Given the description of an element on the screen output the (x, y) to click on. 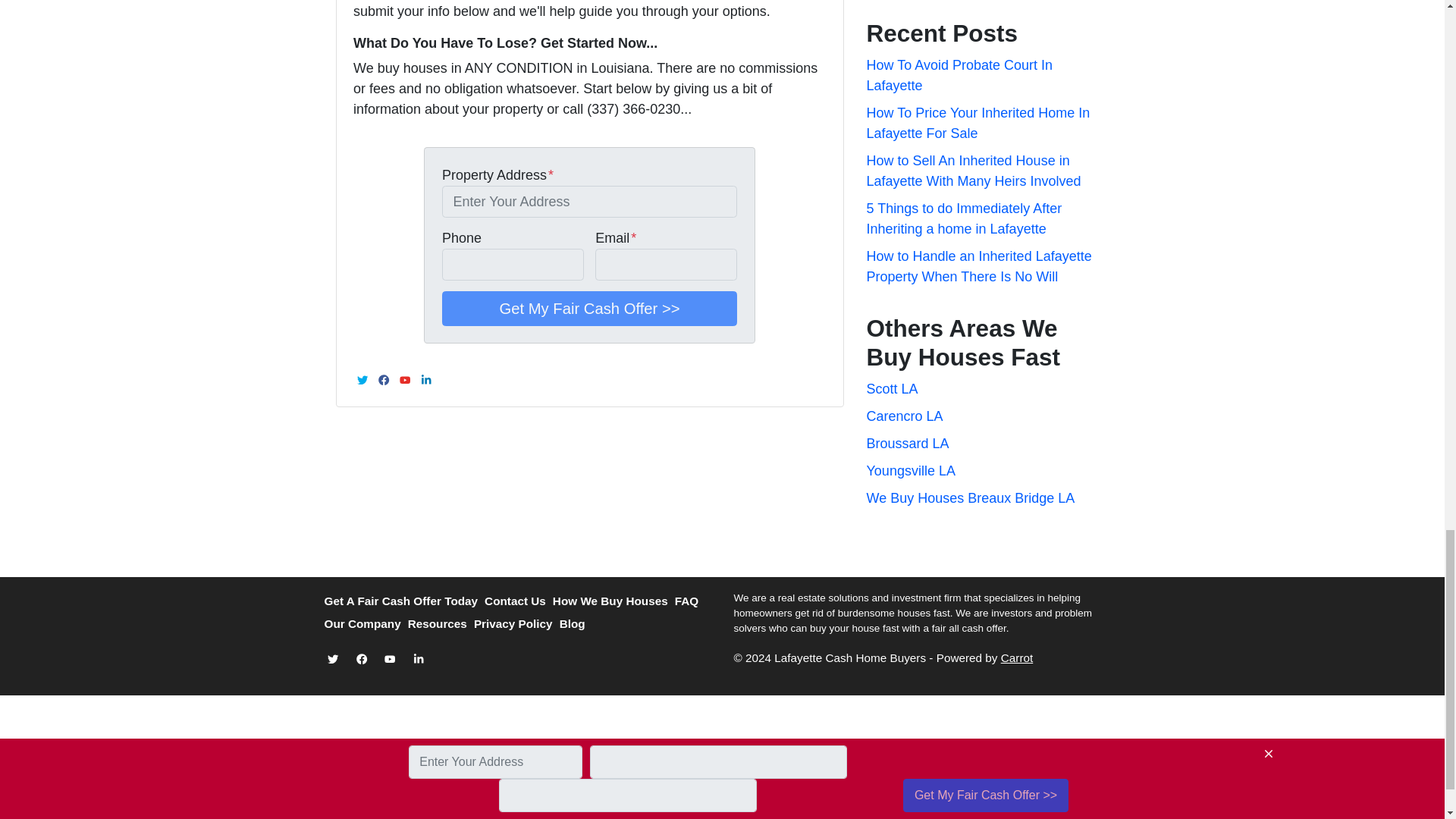
Twitter (362, 380)
Carencro LA (904, 416)
How To Price Your Inherited Home In Lafayette For Sale (977, 122)
Contact Us (518, 601)
How To Avoid Probate Court In Lafayette (958, 75)
Facebook (383, 380)
Scott LA (891, 388)
We Buy Houses Breaux Bridge LA (970, 498)
Broussard LA (907, 443)
